Given the description of an element on the screen output the (x, y) to click on. 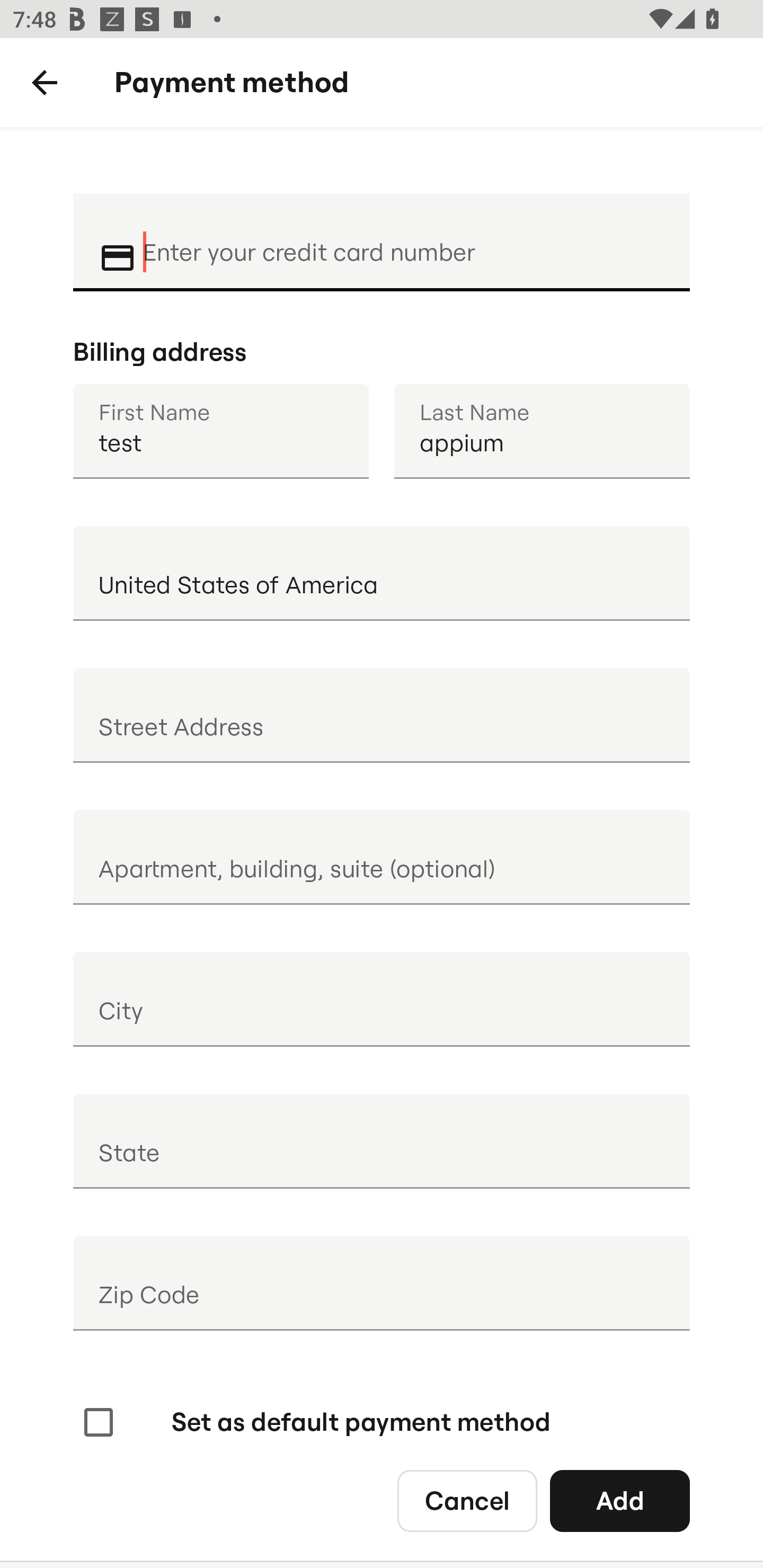
Back (44, 82)
Enter your credit card number (403, 240)
test (220, 431)
appium (541, 431)
United States of America (381, 572)
Street Address (381, 714)
Apartment, building, suite (optional) (381, 857)
City (381, 999)
State (381, 1141)
Zip Code (381, 1283)
Set as default payment method (314, 1421)
Cancel (467, 1500)
Add (619, 1500)
